Given the description of an element on the screen output the (x, y) to click on. 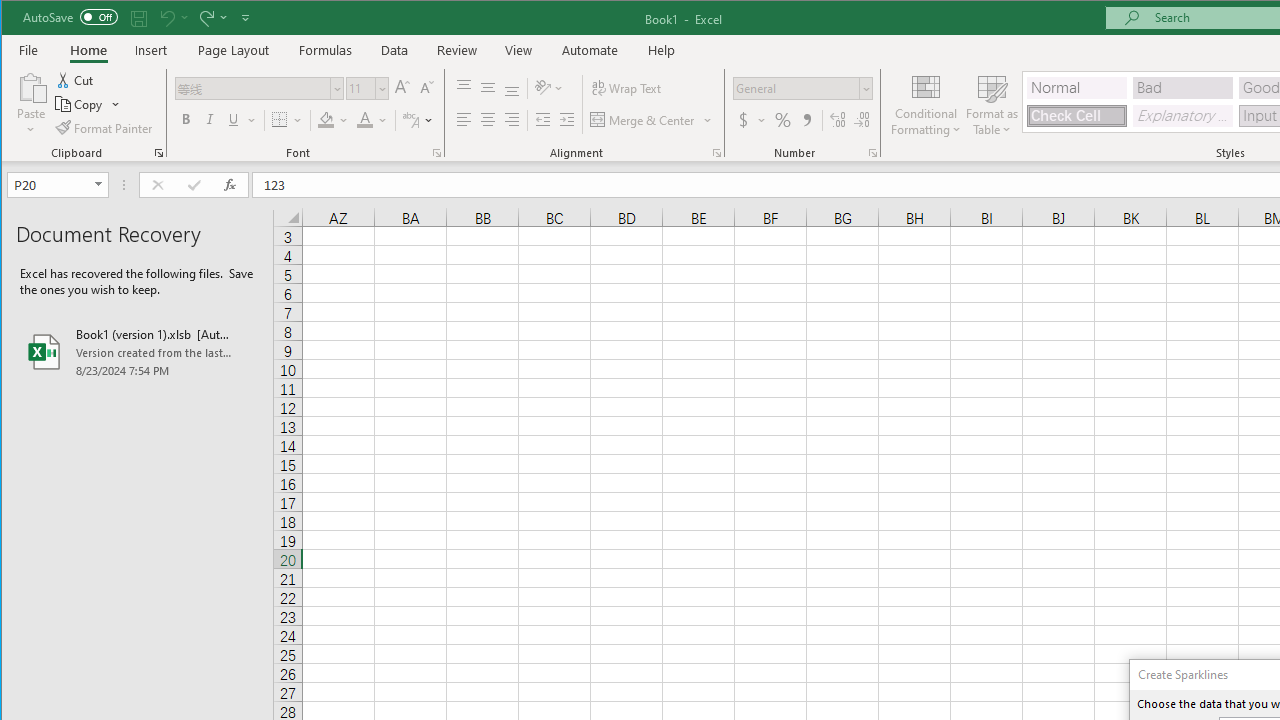
Accounting Number Format (751, 119)
Bottom Border (279, 119)
Top Align (463, 88)
Paste (31, 104)
Underline (240, 119)
Orientation (550, 88)
Percent Style (782, 119)
Increase Indent (566, 119)
Format as Table (992, 104)
